Given the description of an element on the screen output the (x, y) to click on. 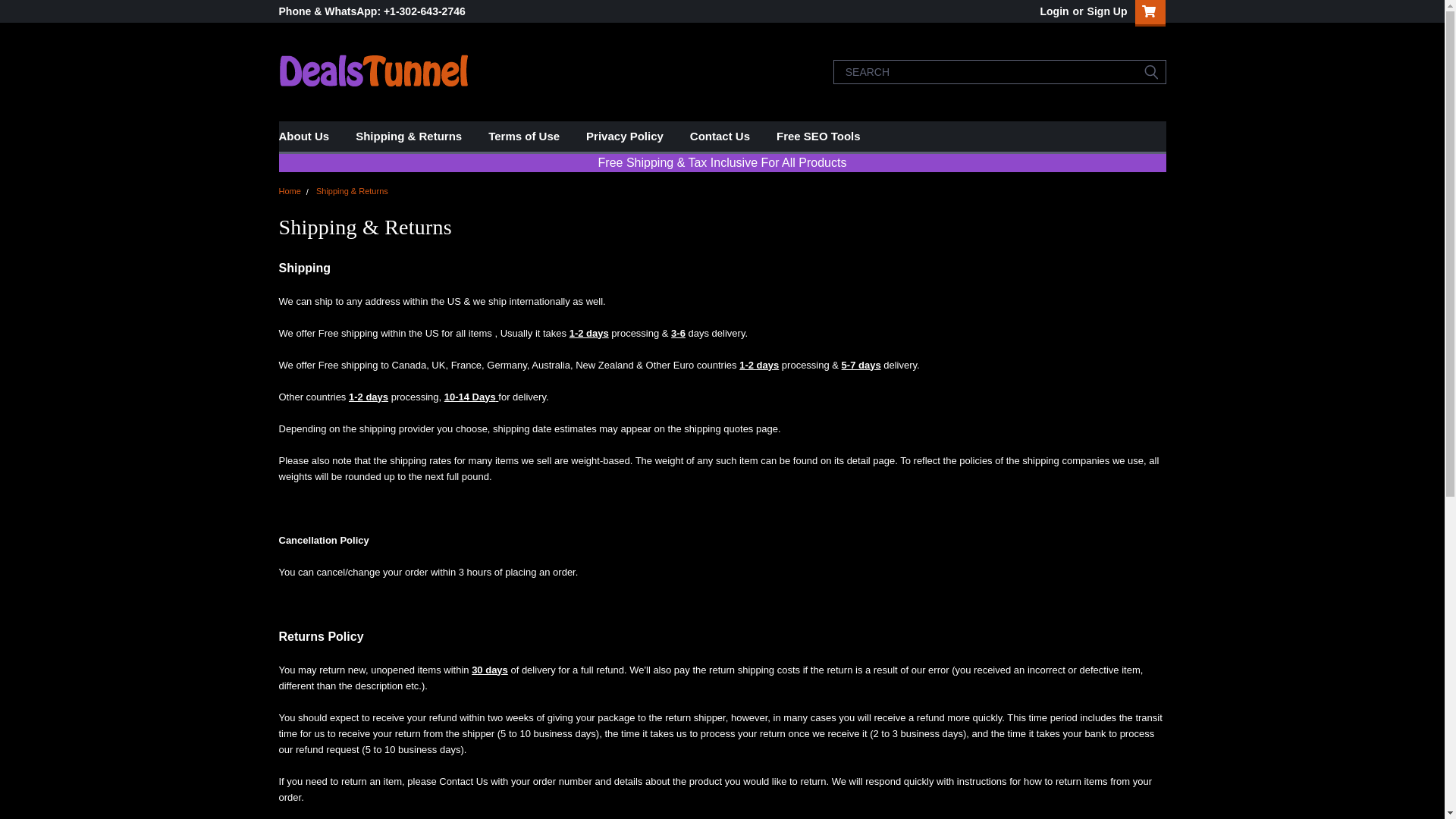
Login (1054, 11)
submit (1150, 71)
Sign Up (1104, 11)
DealsTunnel (373, 71)
